Given the description of an element on the screen output the (x, y) to click on. 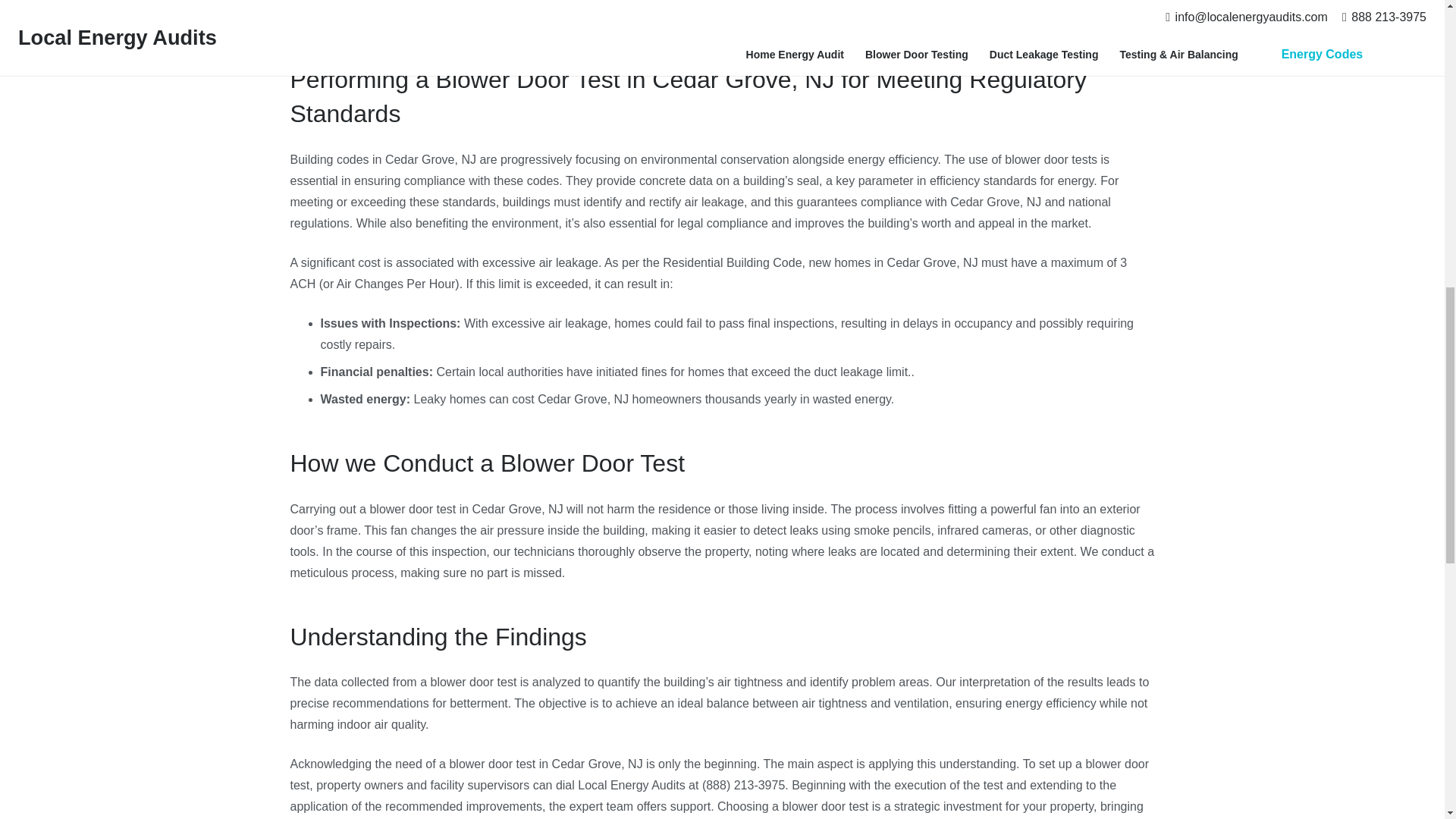
Back to top (1413, 30)
